Given the description of an element on the screen output the (x, y) to click on. 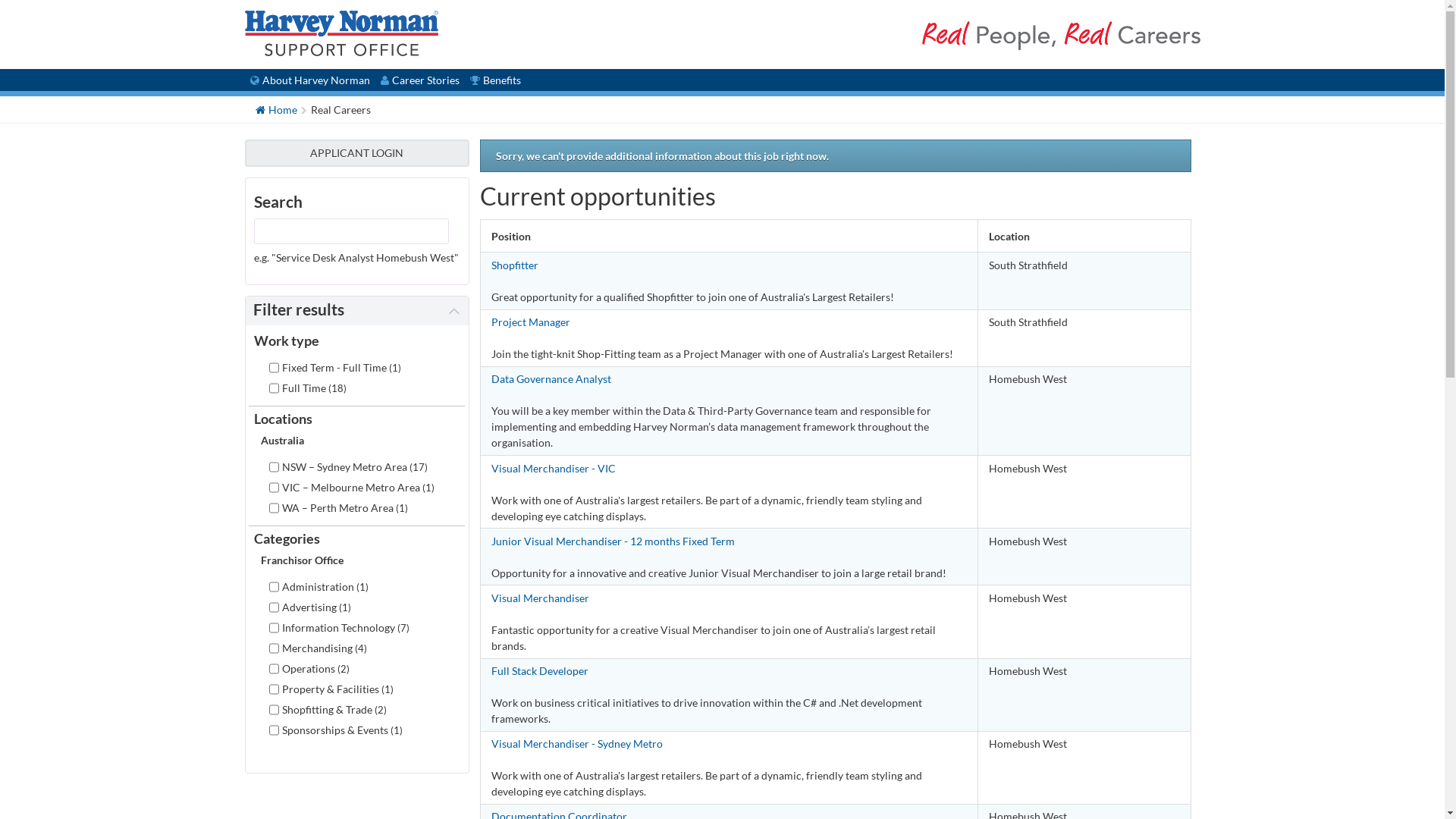
Junior Visual Merchandiser - 12 months Fixed Term Element type: text (728, 541)
Project Manager Element type: text (728, 321)
About Harvey Norman Element type: text (309, 80)
Shopfitter Element type: text (728, 265)
Visual Merchandiser - Sydney Metro Element type: text (728, 743)
Data Governance Analyst Element type: text (728, 378)
Full Stack Developer Element type: text (728, 670)
Home Element type: text (275, 109)
Career Stories Element type: text (419, 80)
APPLICANT LOGIN Element type: text (356, 152)
Visual Merchandiser Element type: text (728, 597)
Visual Merchandiser - VIC Element type: text (728, 468)
Benefits Element type: text (495, 80)
